Given the description of an element on the screen output the (x, y) to click on. 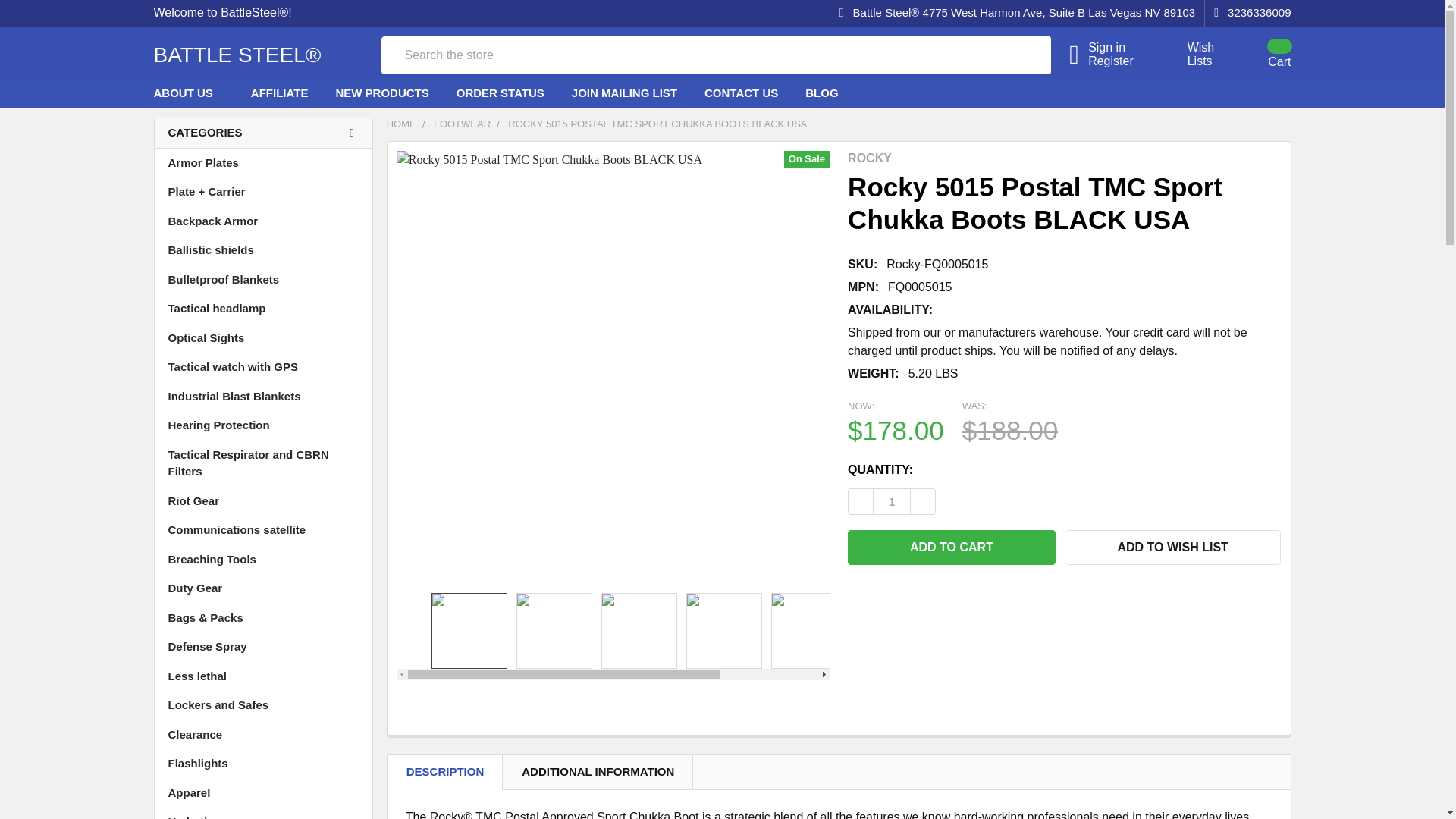
Rocky 5015 Postal TMC Sport Chukka Boots BLACK USA (553, 630)
Register (1119, 60)
Add to Cart (951, 547)
Cart (1260, 54)
3236336009 (1247, 13)
Rocky 5015 Postal TMC Sport Chukka Boots BLACK USA (469, 630)
1 (1192, 54)
Cart (891, 501)
Rocky 5015 Postal TMC Sport Chukka Boots BLACK USA (1260, 54)
Rocky 5015 Postal TMC Sport Chukka Boots BLACK USA (1003, 55)
Sign in (639, 630)
Search (1119, 47)
